Given the description of an element on the screen output the (x, y) to click on. 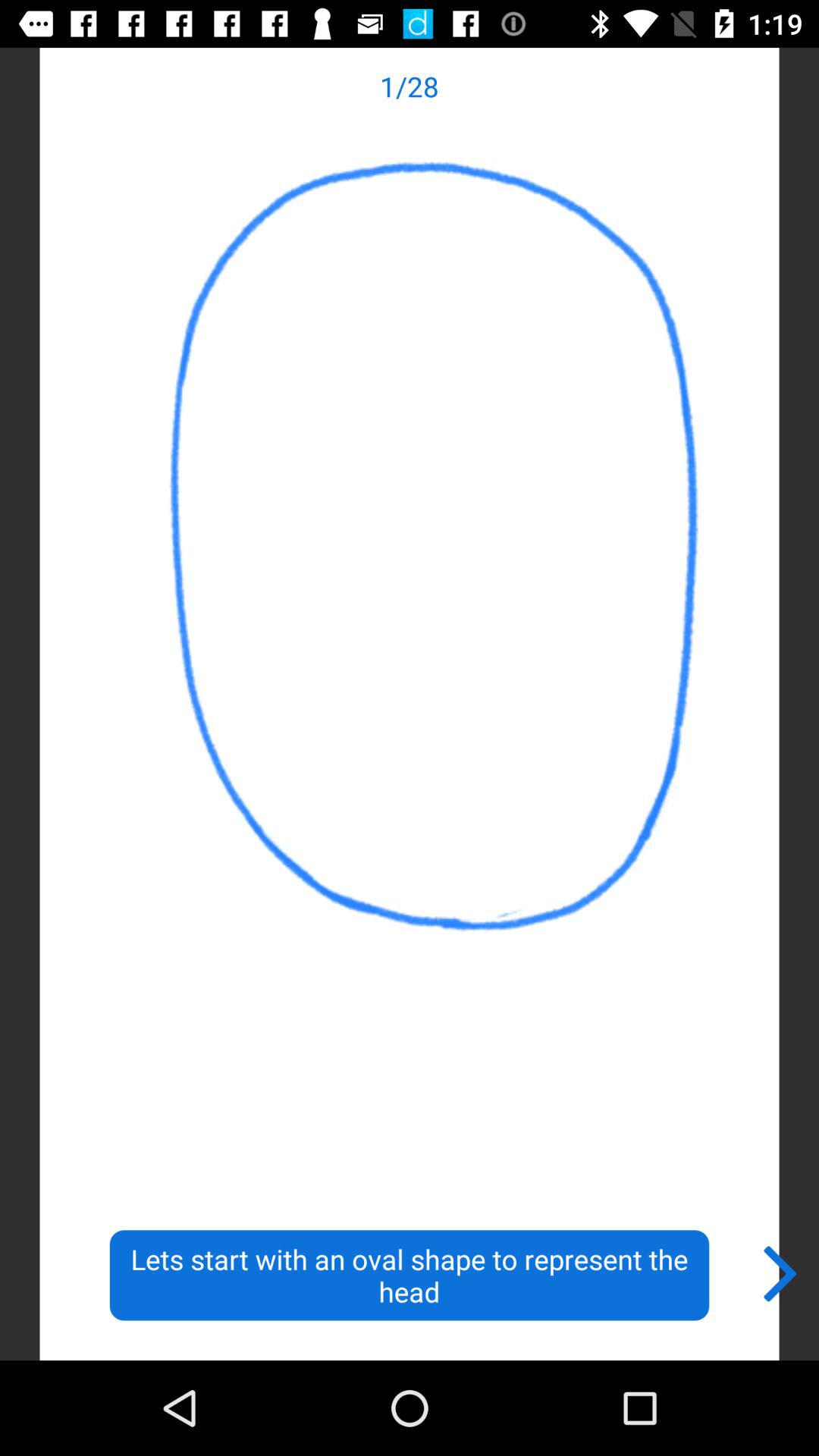
launch the icon next to lets start with (781, 1270)
